Given the description of an element on the screen output the (x, y) to click on. 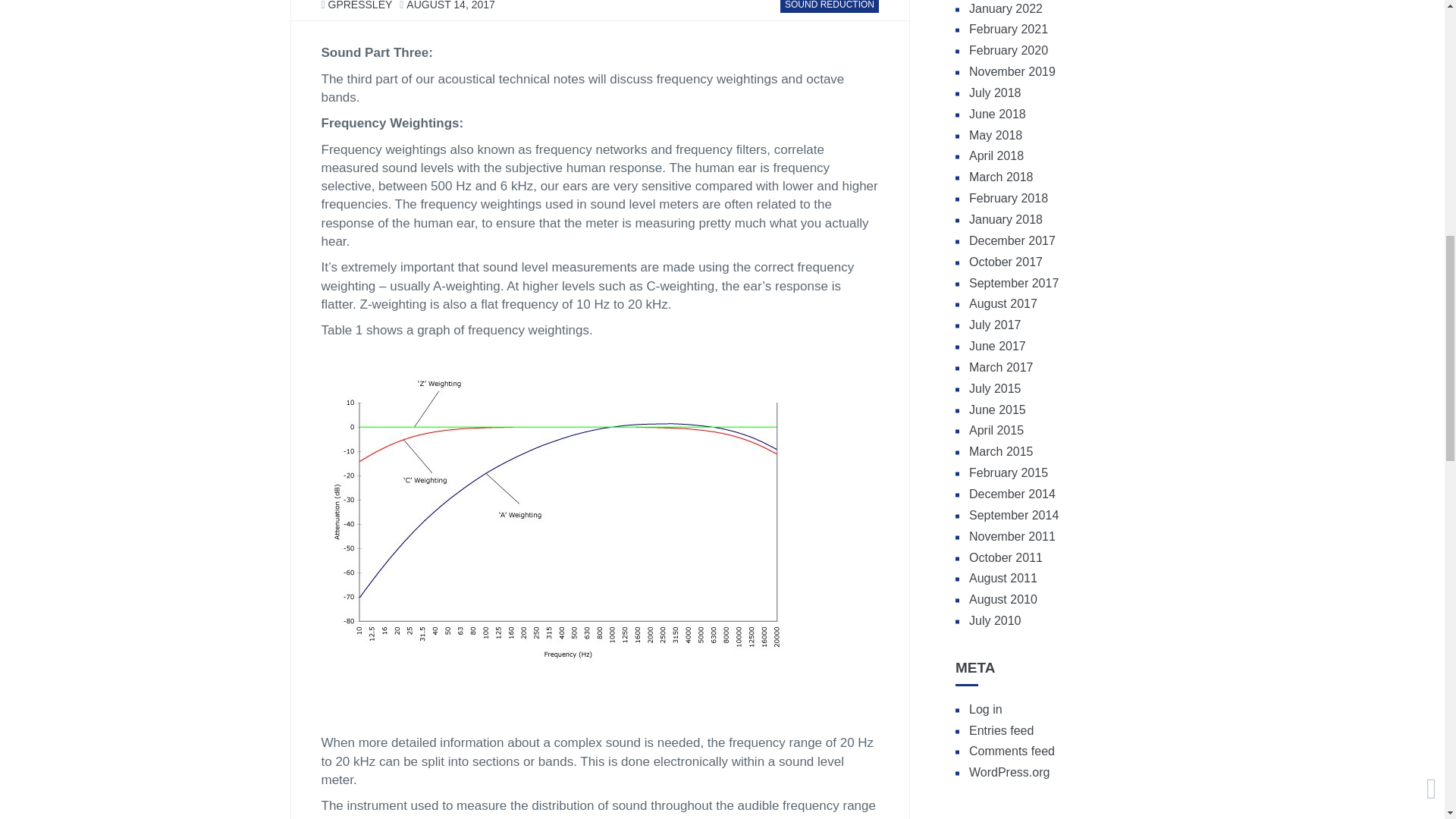
AUGUST 14, 2017 (450, 5)
GPRESSLEY (361, 5)
SOUND REDUCTION (829, 4)
